Given the description of an element on the screen output the (x, y) to click on. 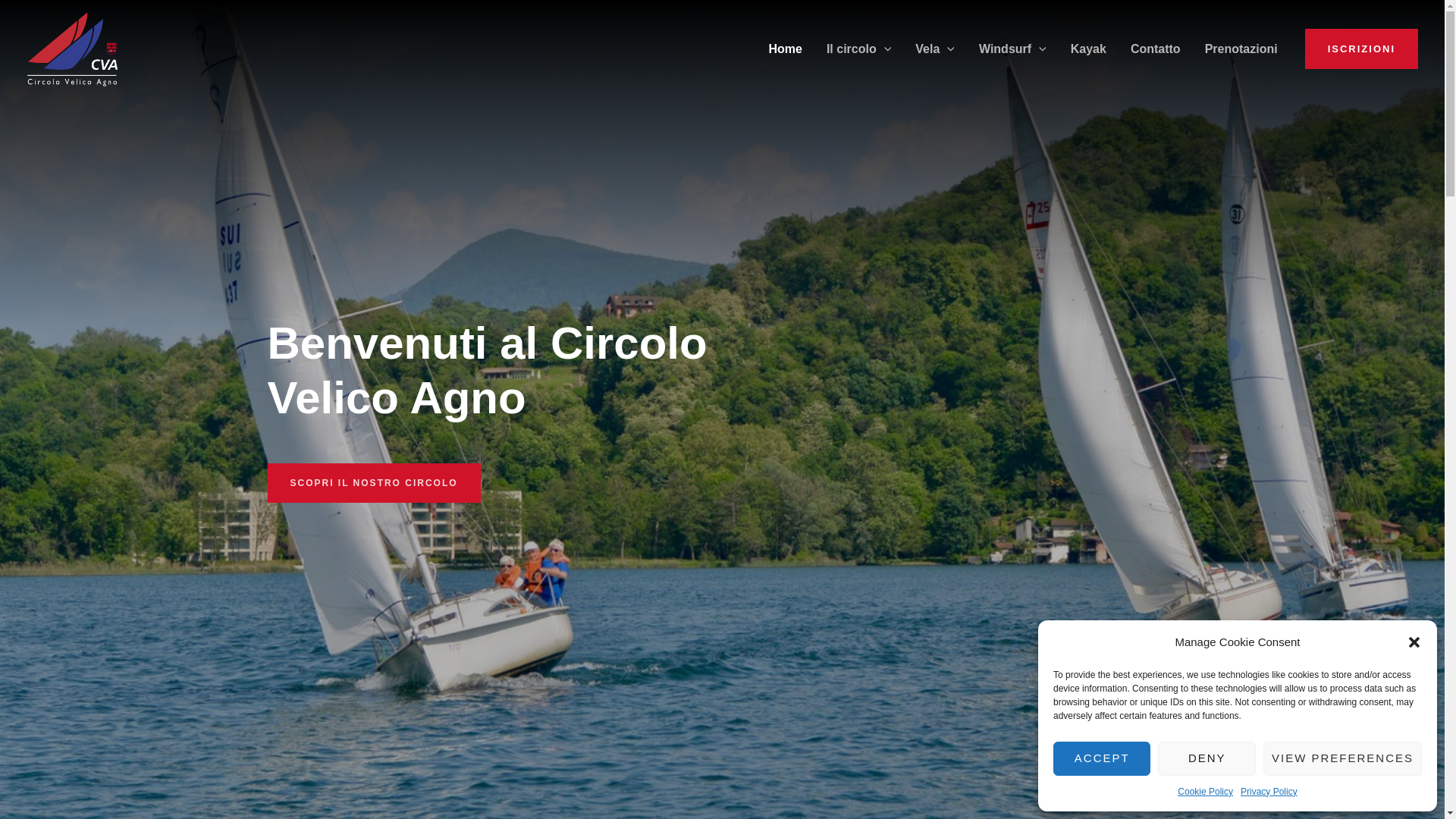
Privacy Policy Element type: text (1268, 791)
Home Element type: text (784, 49)
SCOPRI IL NOSTRO CIRCOLO Element type: text (373, 482)
VIEW PREFERENCES Element type: text (1342, 758)
Windsurf Element type: text (1012, 49)
Cookie Policy Element type: text (1205, 791)
Il circolo Element type: text (858, 49)
Prenotazioni Element type: text (1240, 49)
DENY Element type: text (1206, 758)
Kayak Element type: text (1088, 49)
Contatto Element type: text (1155, 49)
Vela Element type: text (934, 49)
ISCRIZIONI Element type: text (1361, 48)
ACCEPT Element type: text (1101, 758)
